Given the description of an element on the screen output the (x, y) to click on. 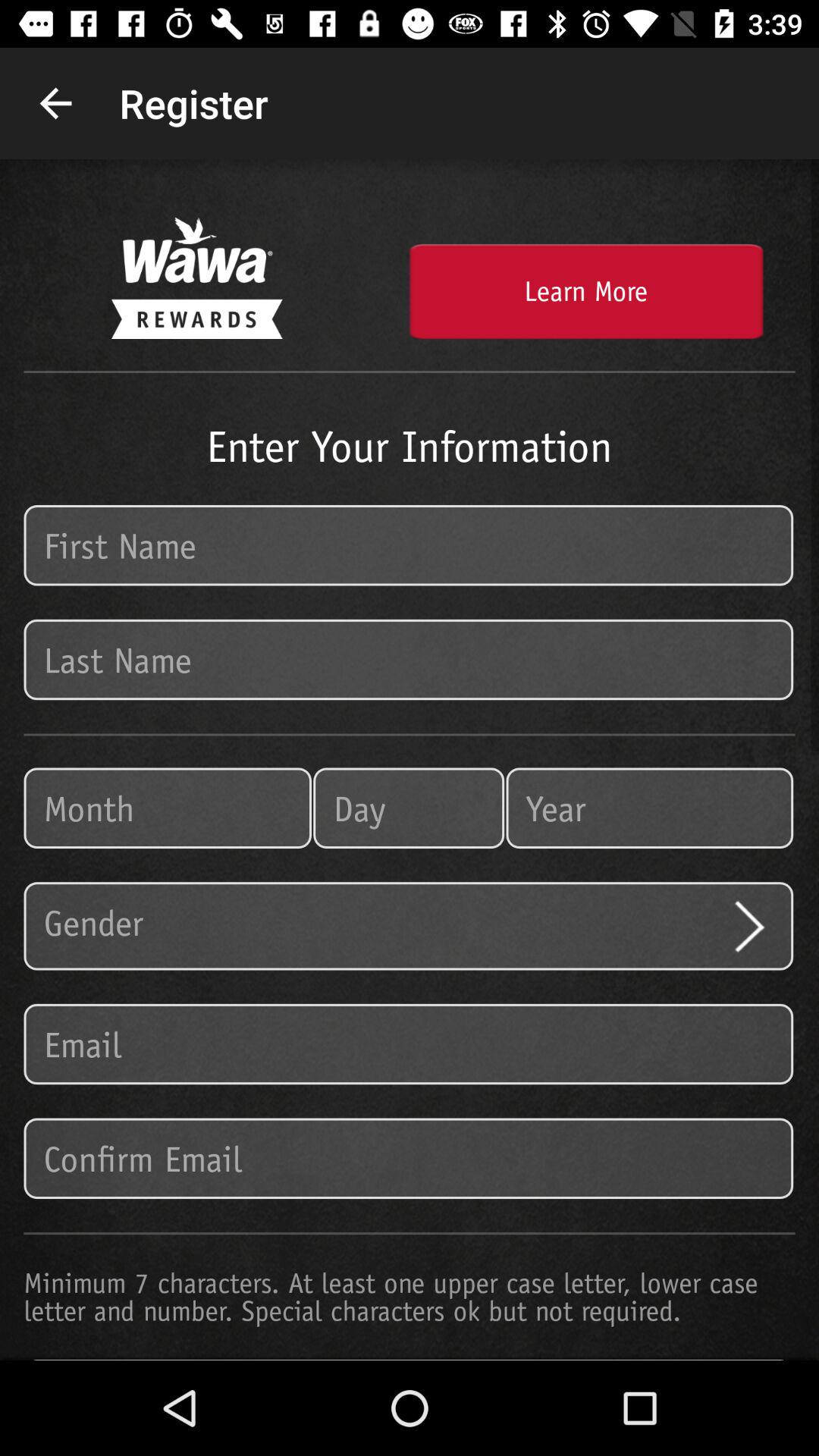
choose icon to the left of register (55, 103)
